Given the description of an element on the screen output the (x, y) to click on. 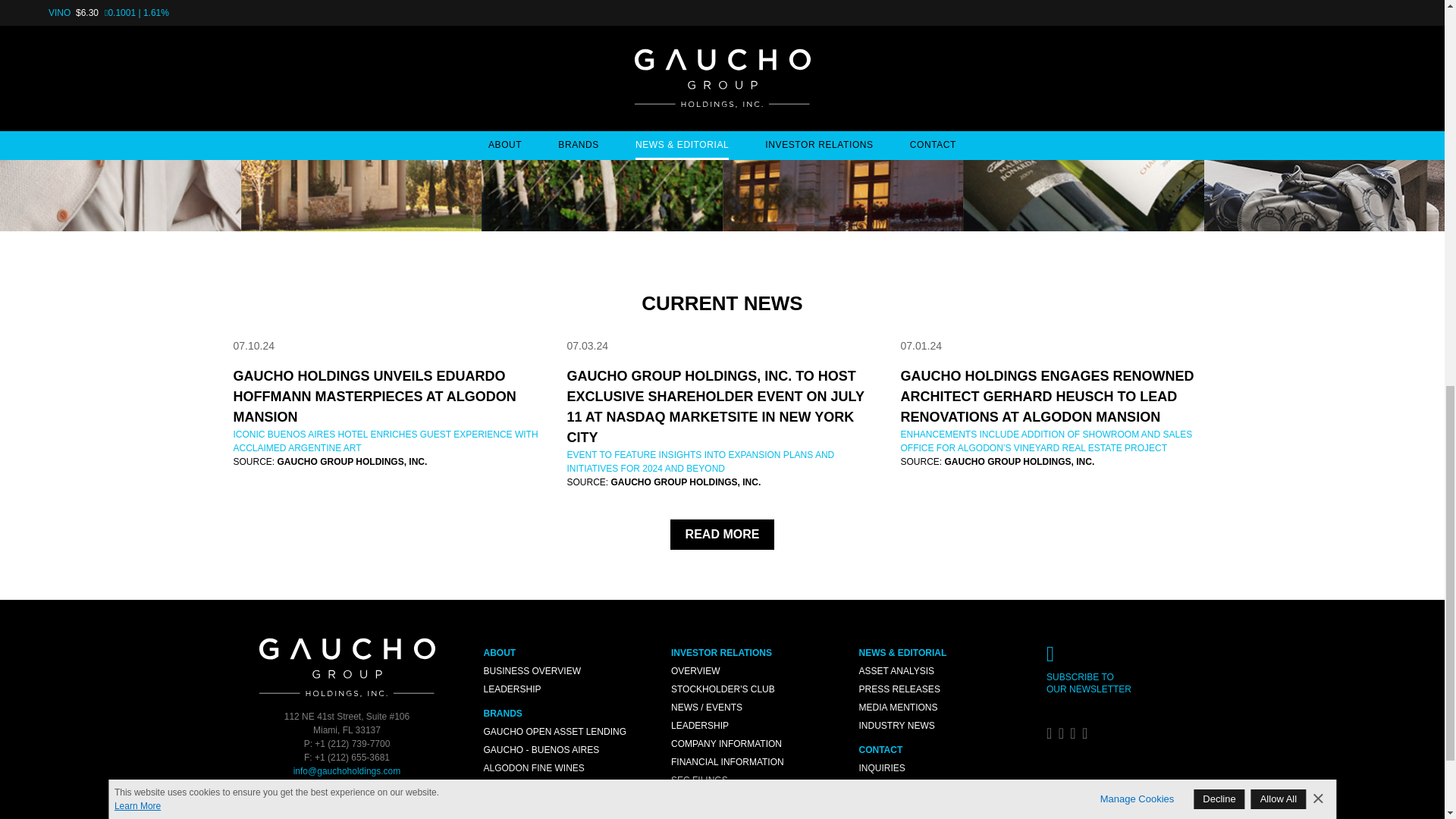
Contact (1128, 656)
VISIT (361, 114)
VISIT (120, 114)
